Given the description of an element on the screen output the (x, y) to click on. 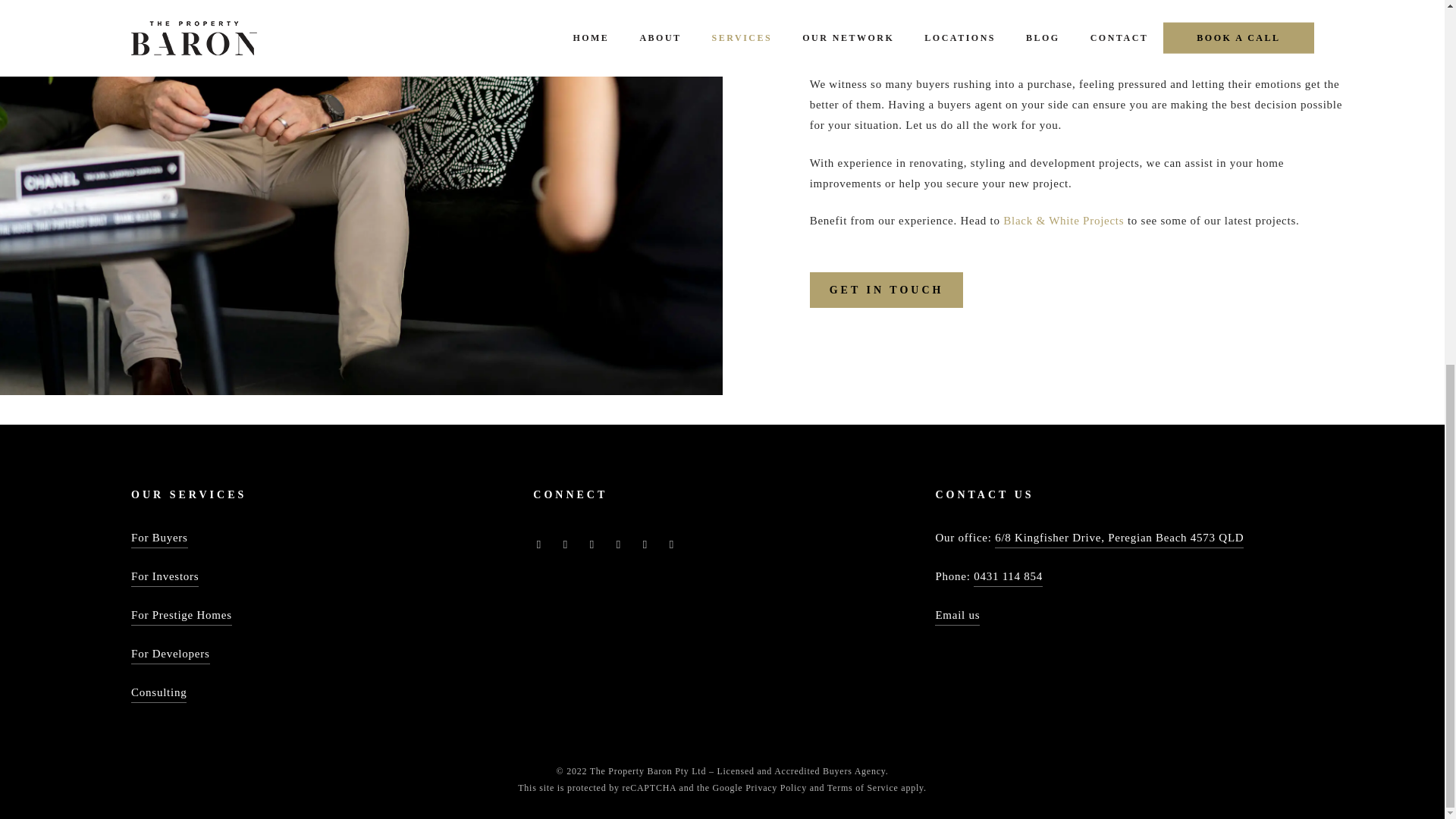
Consulting (158, 692)
For Developers (170, 652)
For Prestige Homes (181, 615)
For Buyers (159, 537)
GET IN TOUCH (886, 290)
For Investors (164, 575)
